Given the description of an element on the screen output the (x, y) to click on. 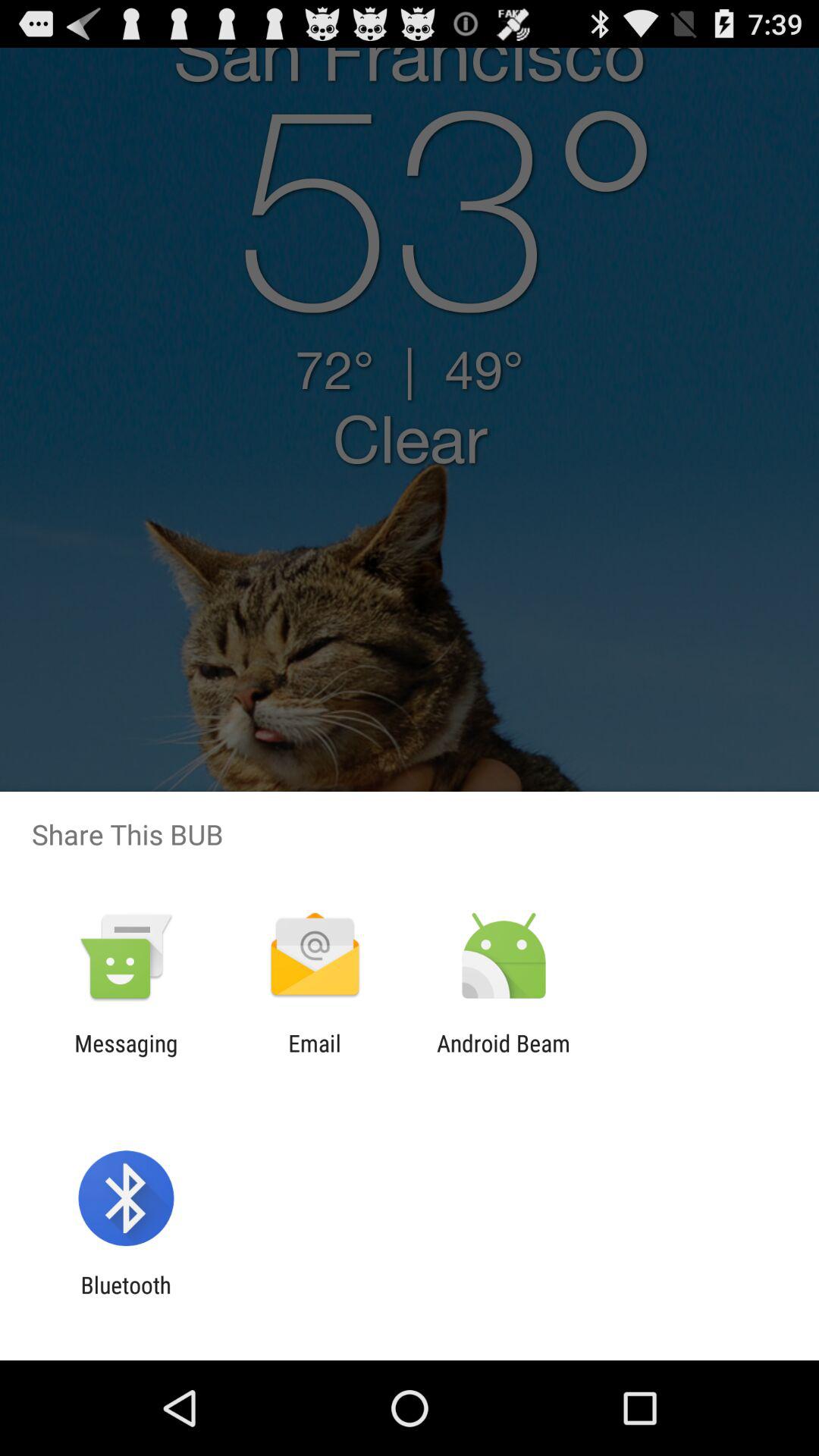
launch app to the left of the email item (126, 1056)
